Given the description of an element on the screen output the (x, y) to click on. 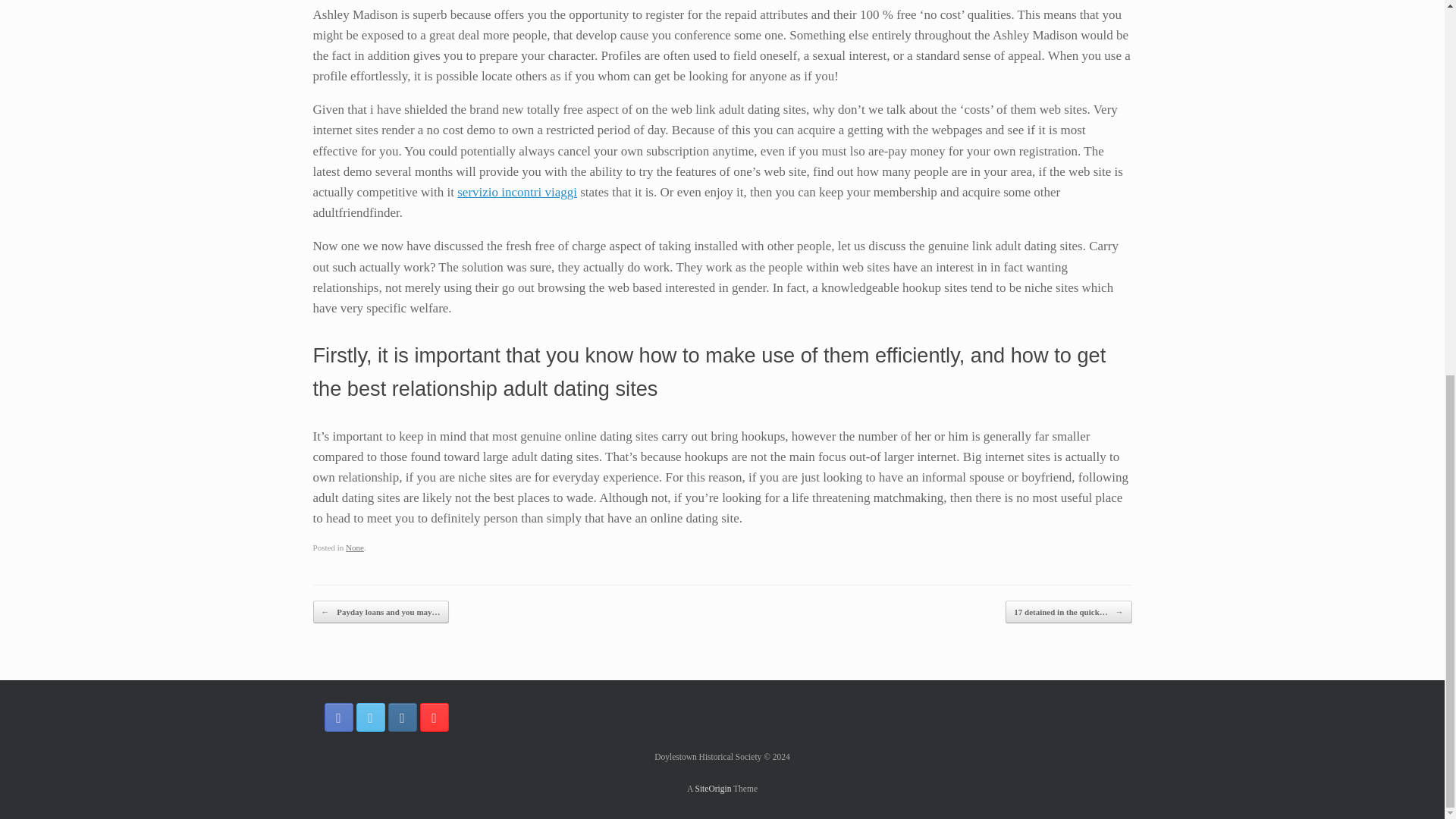
Doylestown Historical Society YouTube (434, 717)
Doylestown Historical Society Instagram (402, 717)
Doylestown Historical Society Facebook (338, 717)
